Given the description of an element on the screen output the (x, y) to click on. 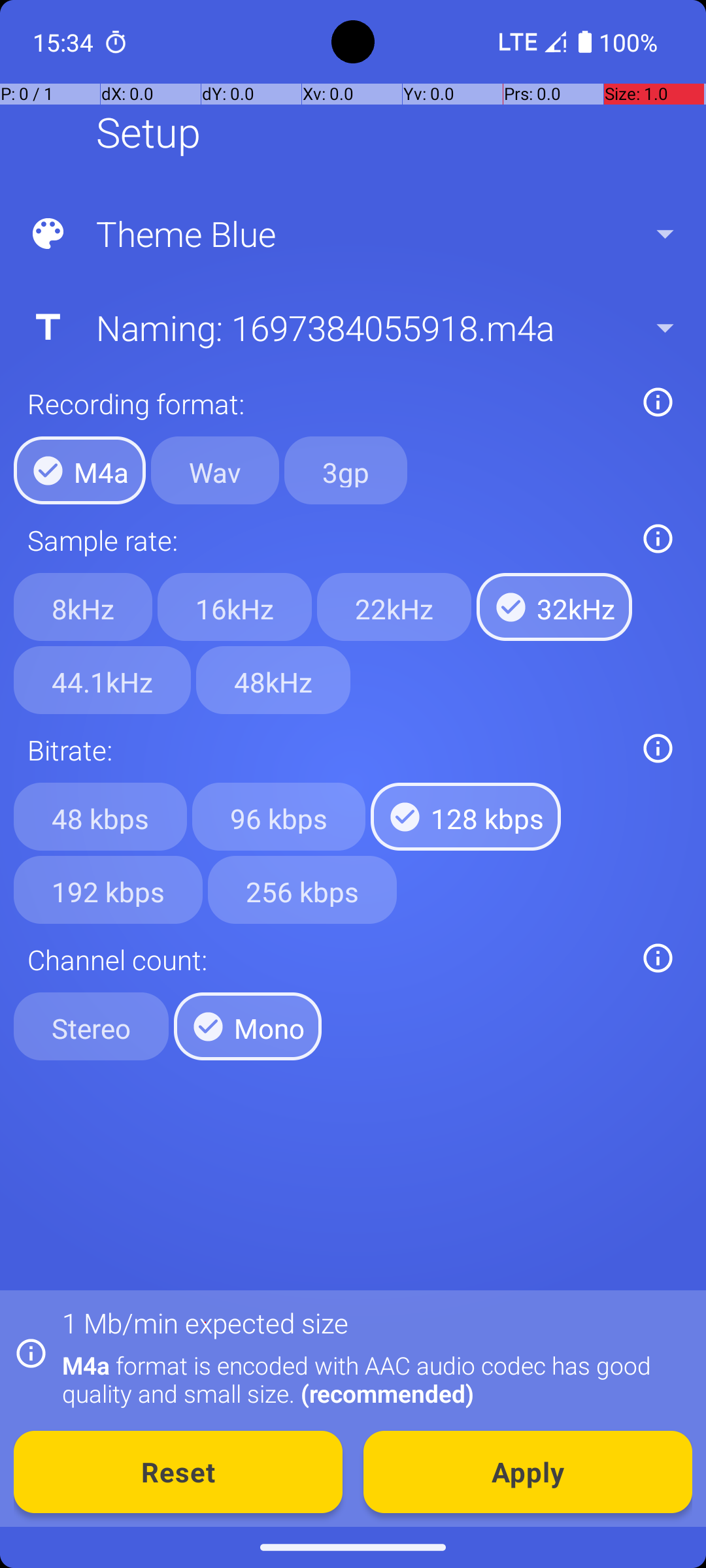
Theme Blue Element type: android.widget.TextView (352, 233)
Naming: 1697384055918.m4a Element type: android.widget.TextView (352, 327)
